Given the description of an element on the screen output the (x, y) to click on. 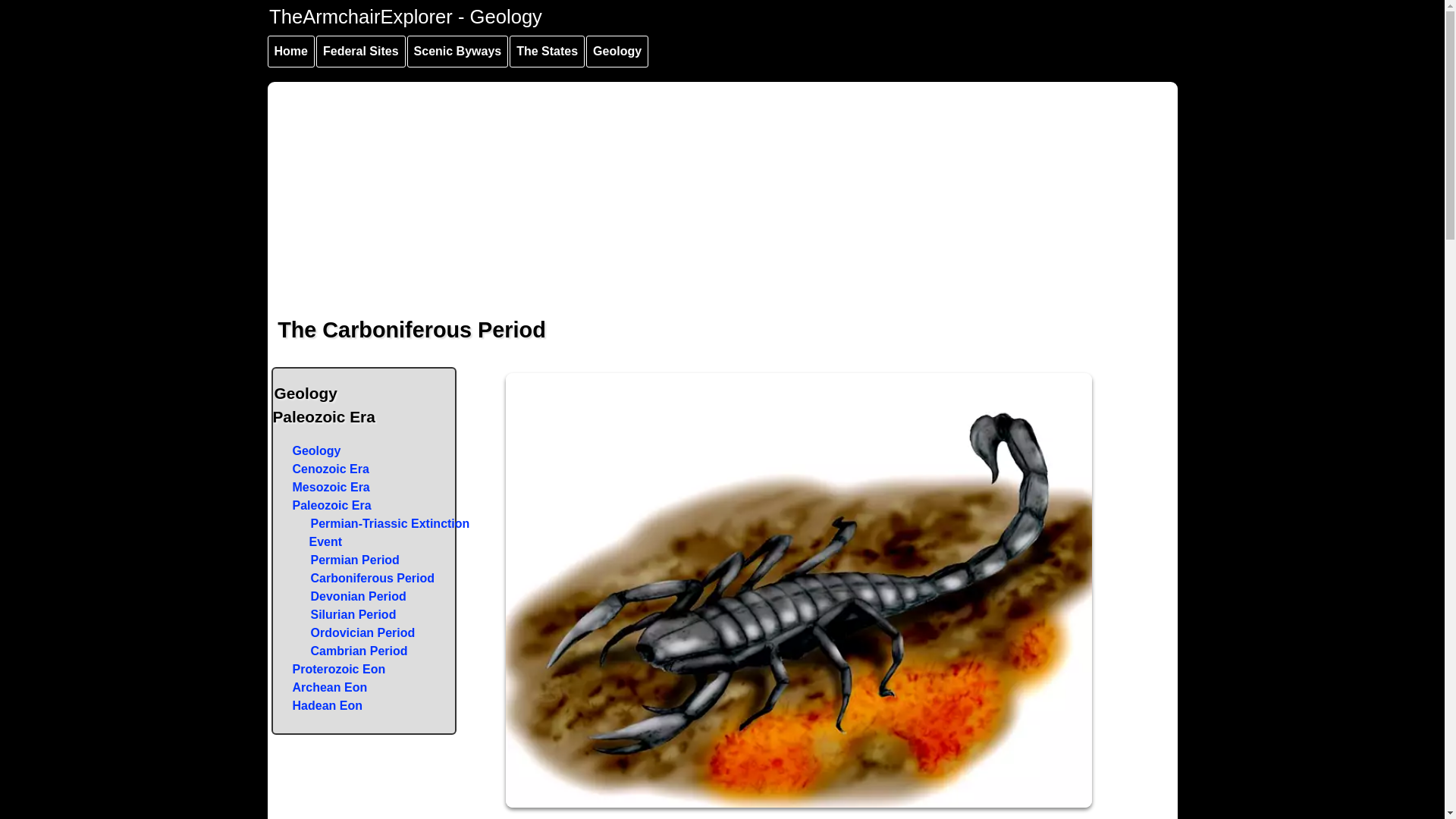
The States (547, 51)
Scenic Byways (457, 51)
Federal Sites (360, 51)
Skip to main navigation (298, 2)
Home (290, 51)
Skip to main content (290, 2)
